Given the description of an element on the screen output the (x, y) to click on. 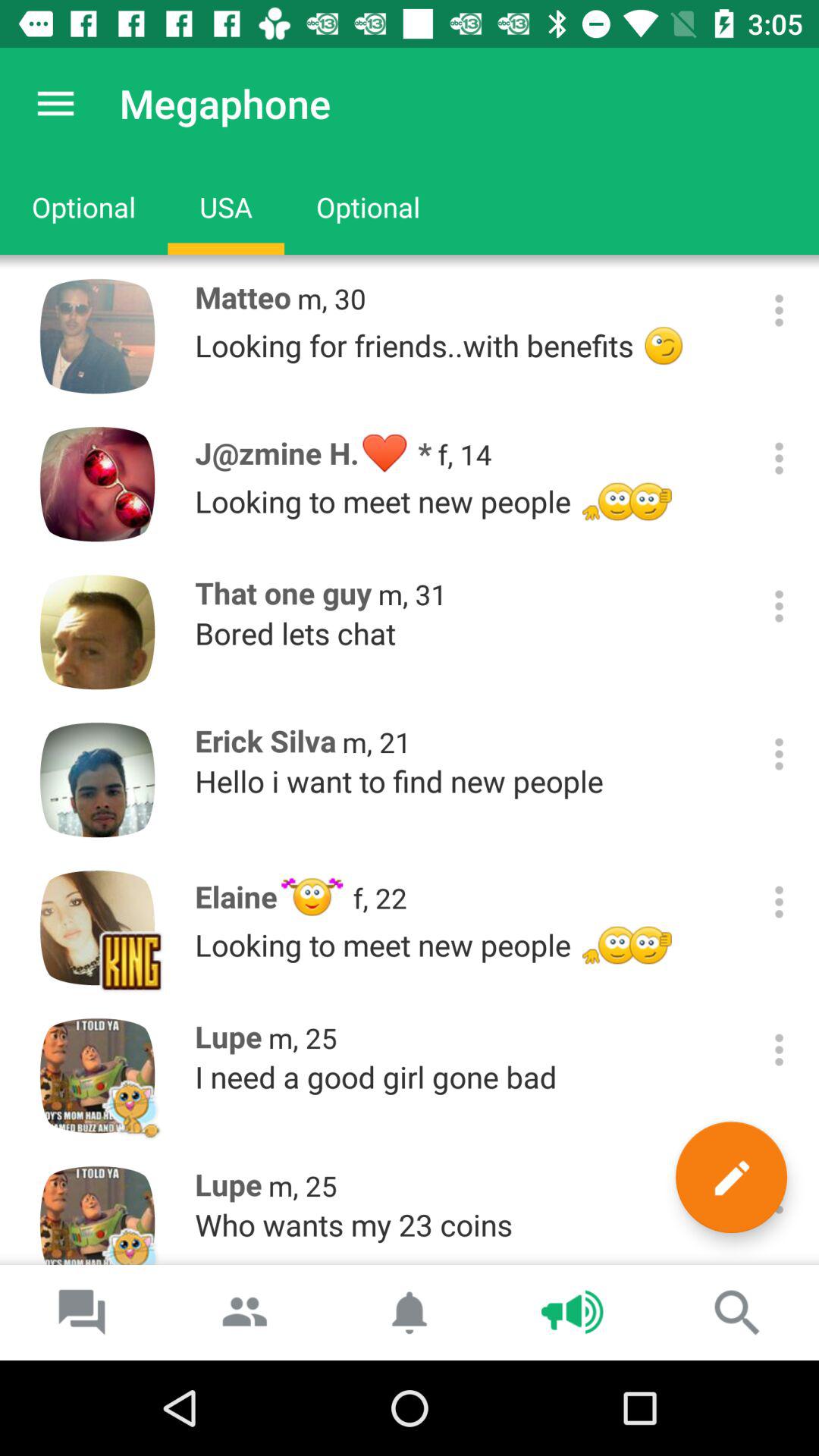
choose the icon to the right of m, 25 item (731, 1177)
